Given the description of an element on the screen output the (x, y) to click on. 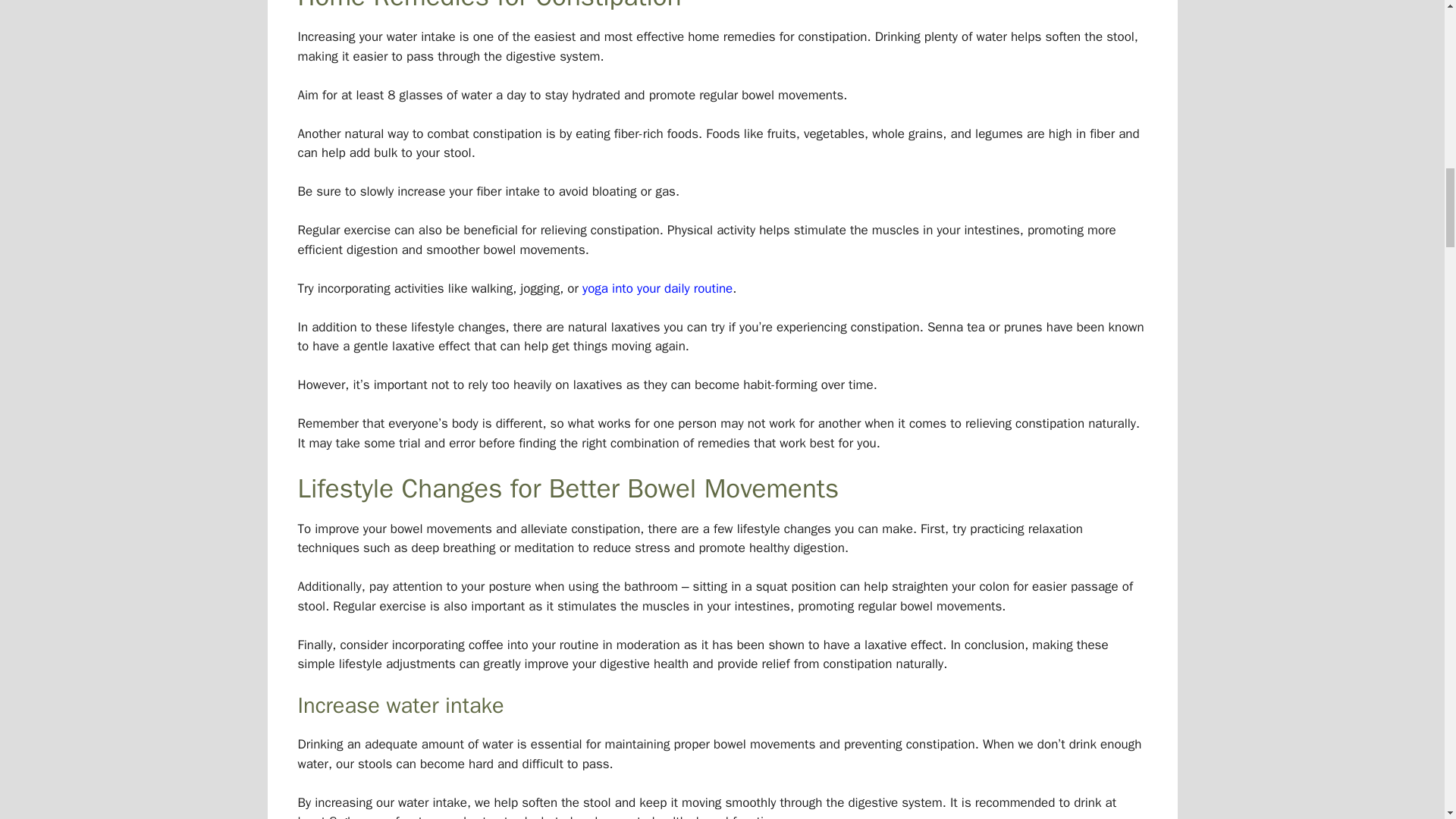
yoga into your daily routine (657, 288)
